Given the description of an element on the screen output the (x, y) to click on. 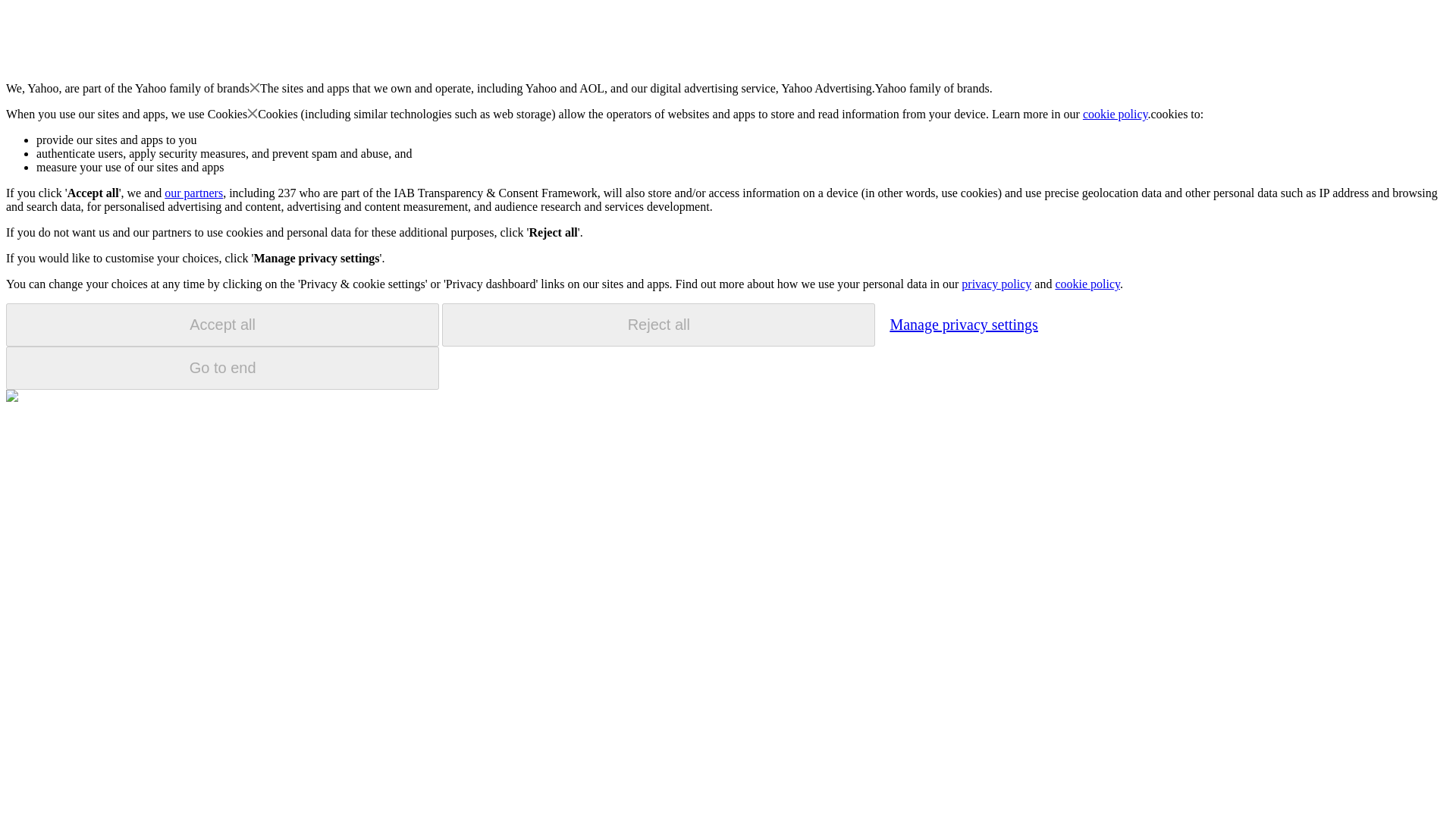
Manage privacy settings (963, 323)
Accept all (222, 324)
our partners (193, 192)
cookie policy (1115, 113)
privacy policy (995, 283)
cookie policy (1086, 283)
Go to end (222, 367)
Reject all (658, 324)
